Given the description of an element on the screen output the (x, y) to click on. 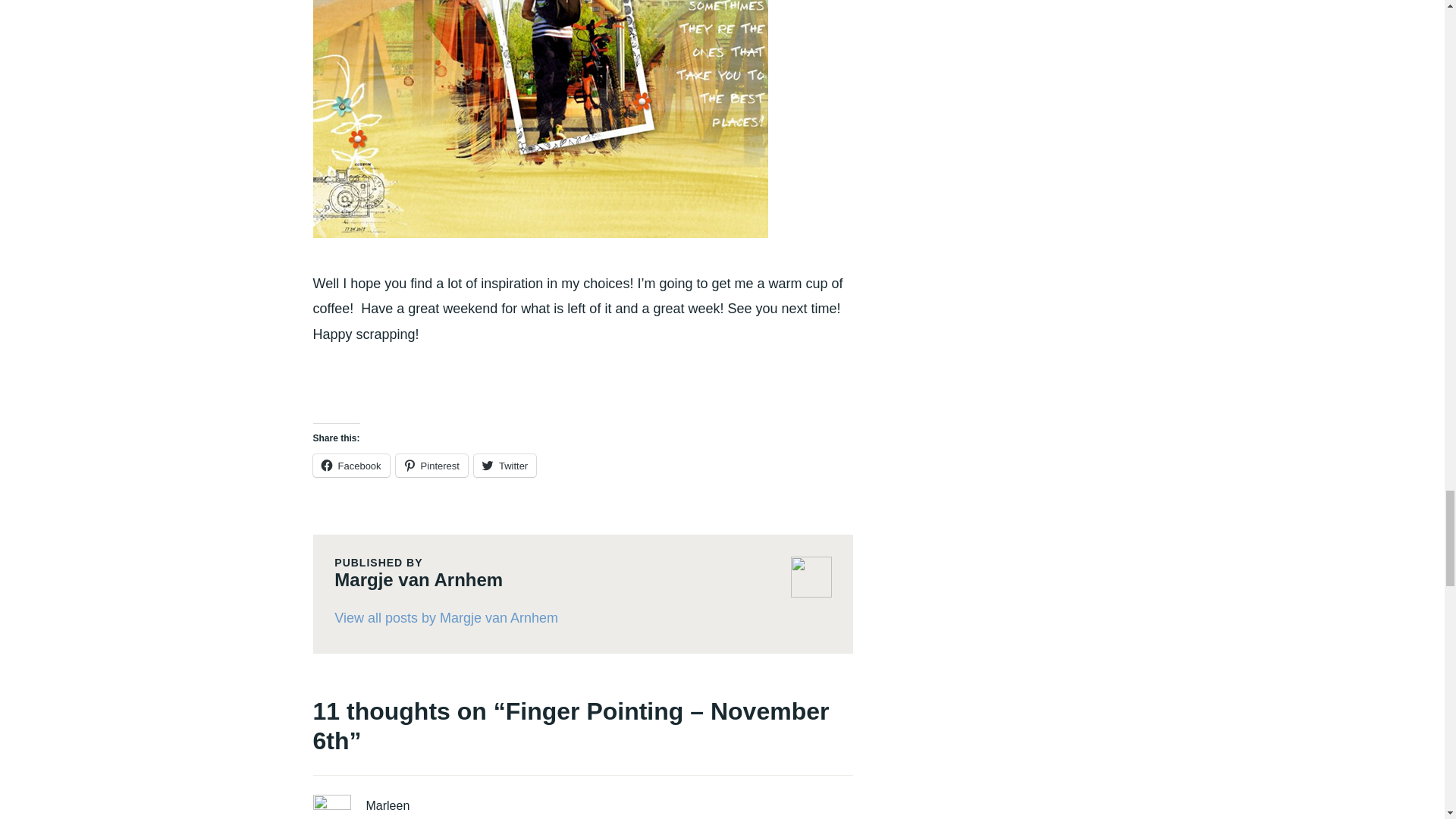
Click to share on Facebook (350, 465)
Twitter (504, 465)
Pinterest (431, 465)
Facebook (350, 465)
Click to share on Pinterest (431, 465)
Click to share on Twitter (504, 465)
View all posts by Margje van Arnhem (582, 618)
